Given the description of an element on the screen output the (x, y) to click on. 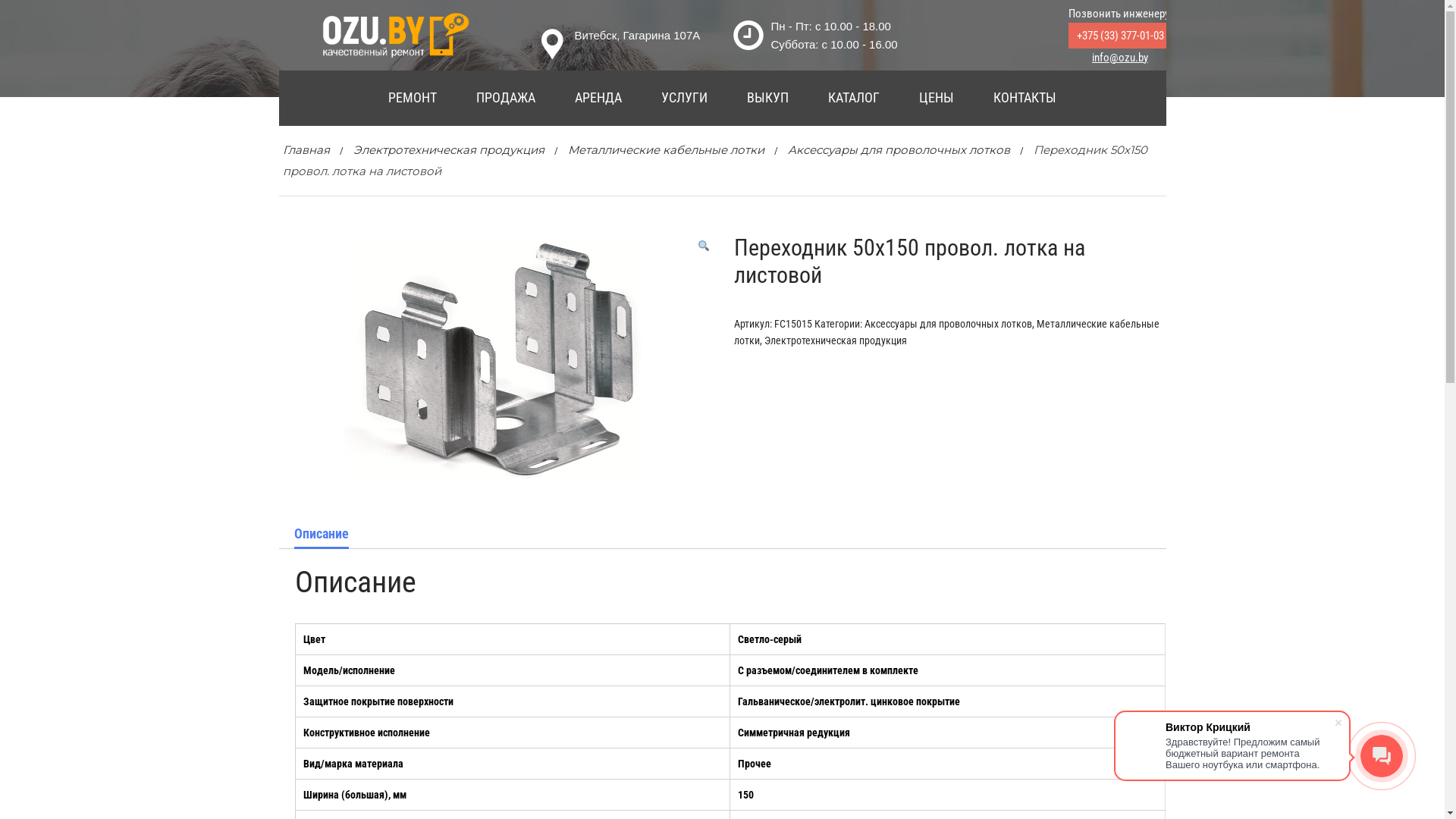
info@ozu.by Element type: text (1120, 57)
